Given the description of an element on the screen output the (x, y) to click on. 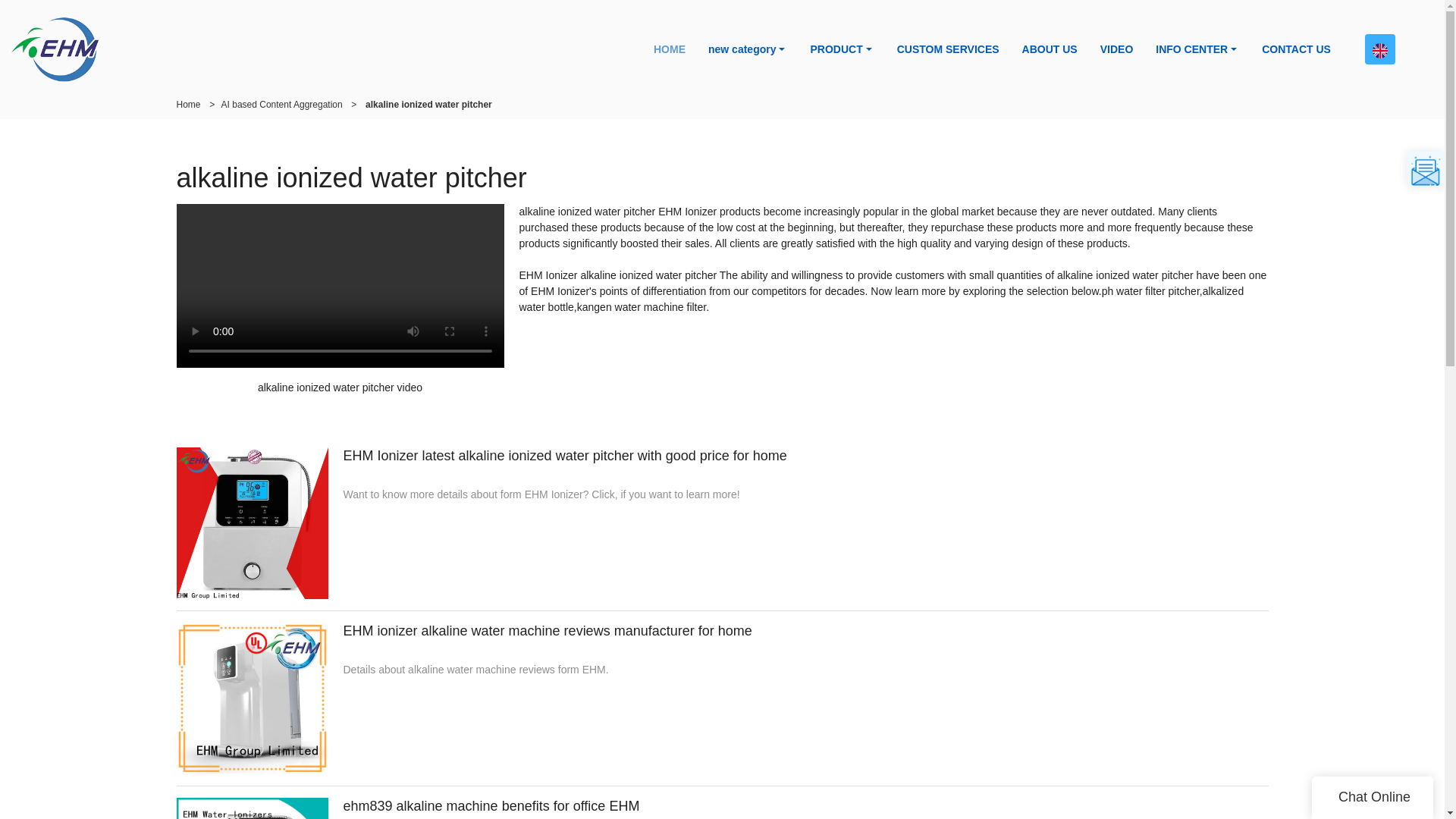
CUSTOM SERVICES (947, 49)
AI based Content Aggregation (281, 104)
INFO CENTER (1197, 49)
CONTACT US (1296, 49)
Home (188, 104)
new category (747, 49)
ABOUT US (1049, 49)
PRODUCT (841, 49)
